Given the description of an element on the screen output the (x, y) to click on. 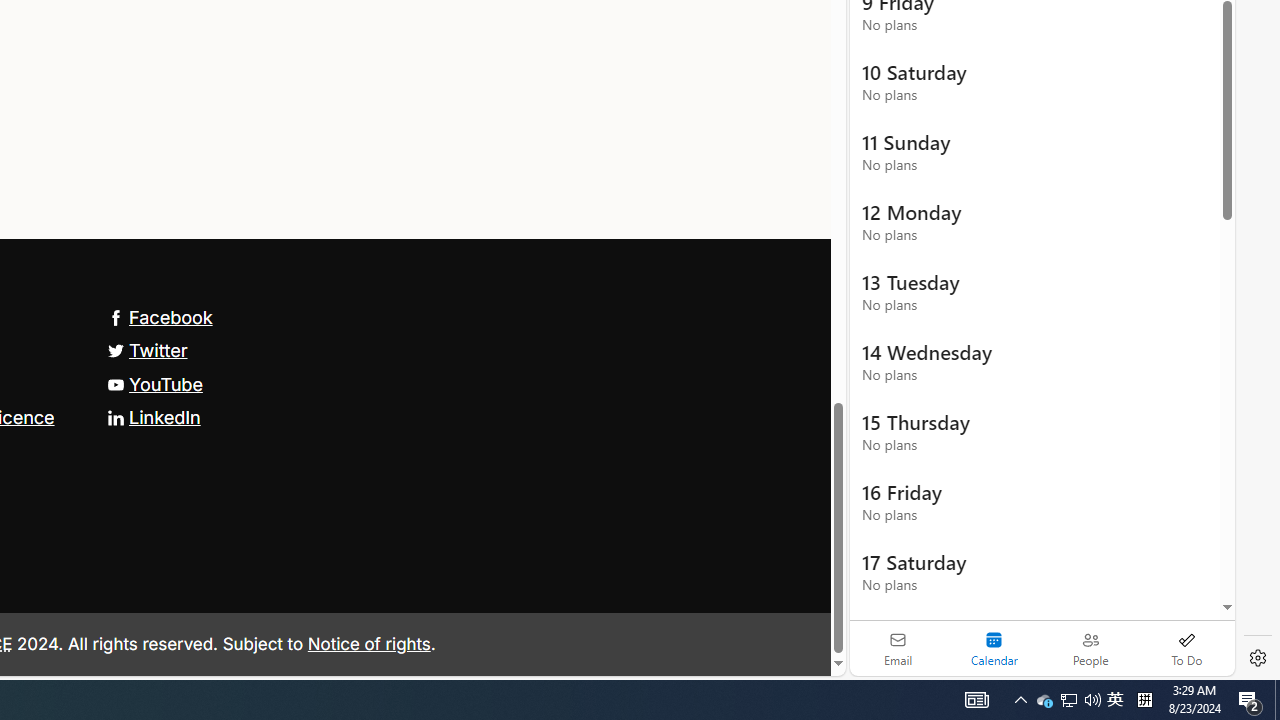
YouTube (154, 383)
Selected calendar module. Date today is 22 (994, 648)
To Do (1186, 648)
Facebook (159, 317)
Twitter (147, 350)
LinkedIn (153, 416)
People (1090, 648)
